Given the description of an element on the screen output the (x, y) to click on. 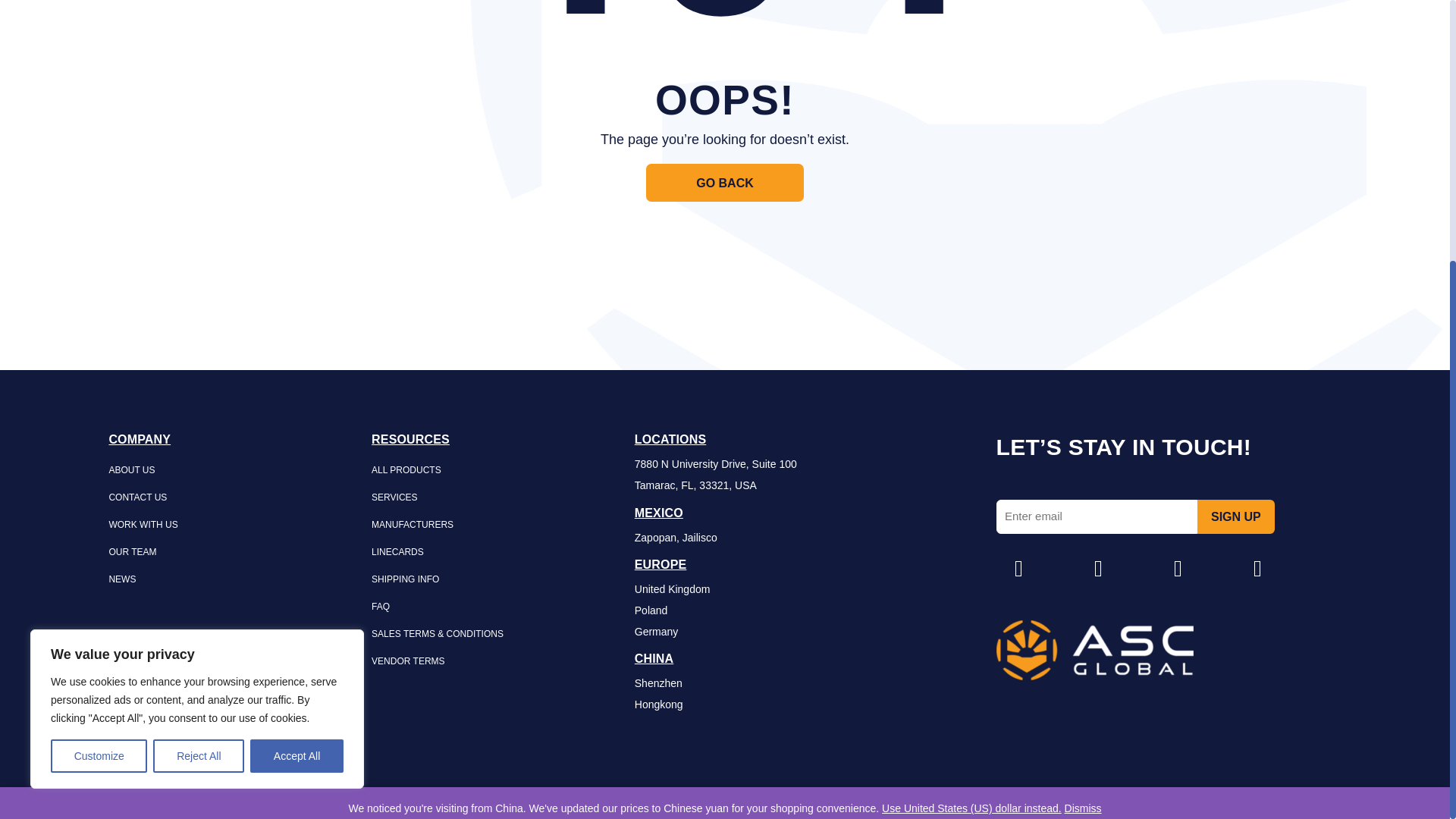
Customize (98, 372)
Accept All (296, 372)
Follow on LinkedIn (1178, 568)
Follow on Facebook (1098, 568)
Sign Up (1235, 516)
Follow on Youtube (1257, 568)
Follow on Instagram (1018, 568)
Reject All (198, 372)
